Given the description of an element on the screen output the (x, y) to click on. 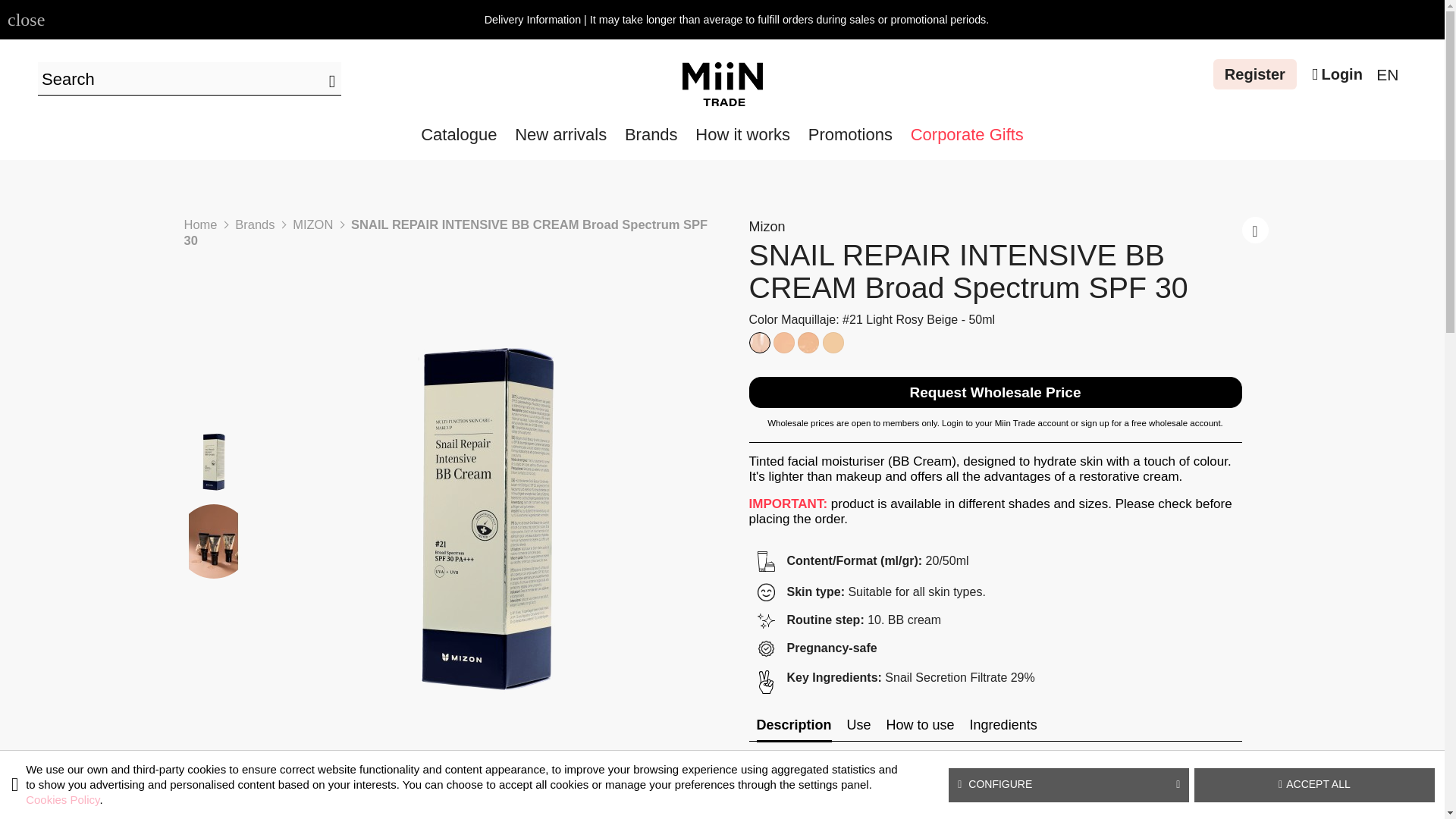
Catalogue (458, 136)
EN (1386, 75)
Register (1254, 73)
Register (1254, 73)
SNAIL REPAIR INTENSIVE BB CREAM (213, 541)
Log in to your customer account (1336, 74)
Login (1336, 74)
Request Wholesale Price (995, 391)
